Given the description of an element on the screen output the (x, y) to click on. 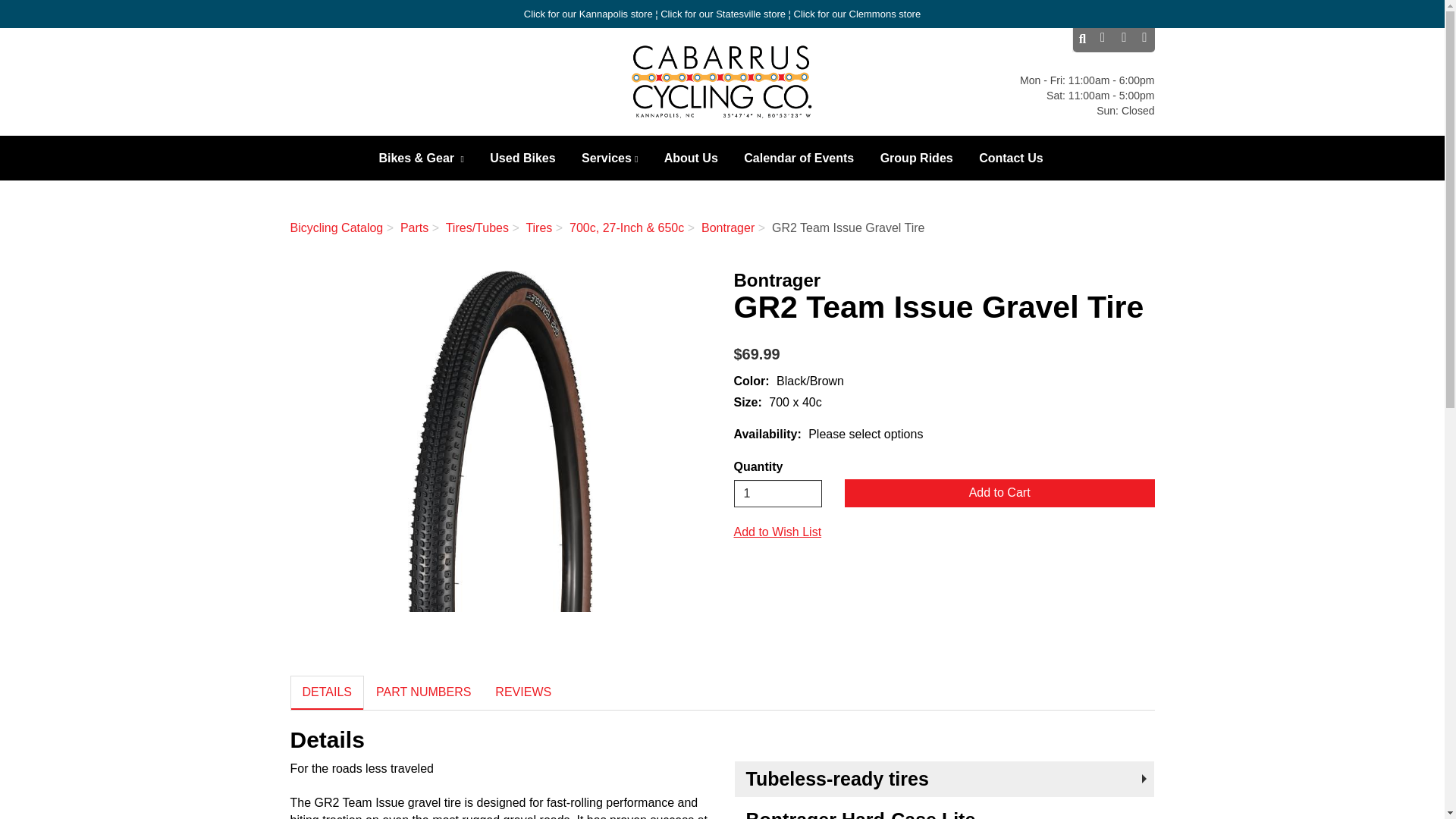
Click for our Clemmons store (857, 13)
Click for our Statesville store (723, 13)
1 (777, 492)
Click for our Kannapolis store (588, 13)
Cabarrus Cycling Co Home Page (722, 81)
